Given the description of an element on the screen output the (x, y) to click on. 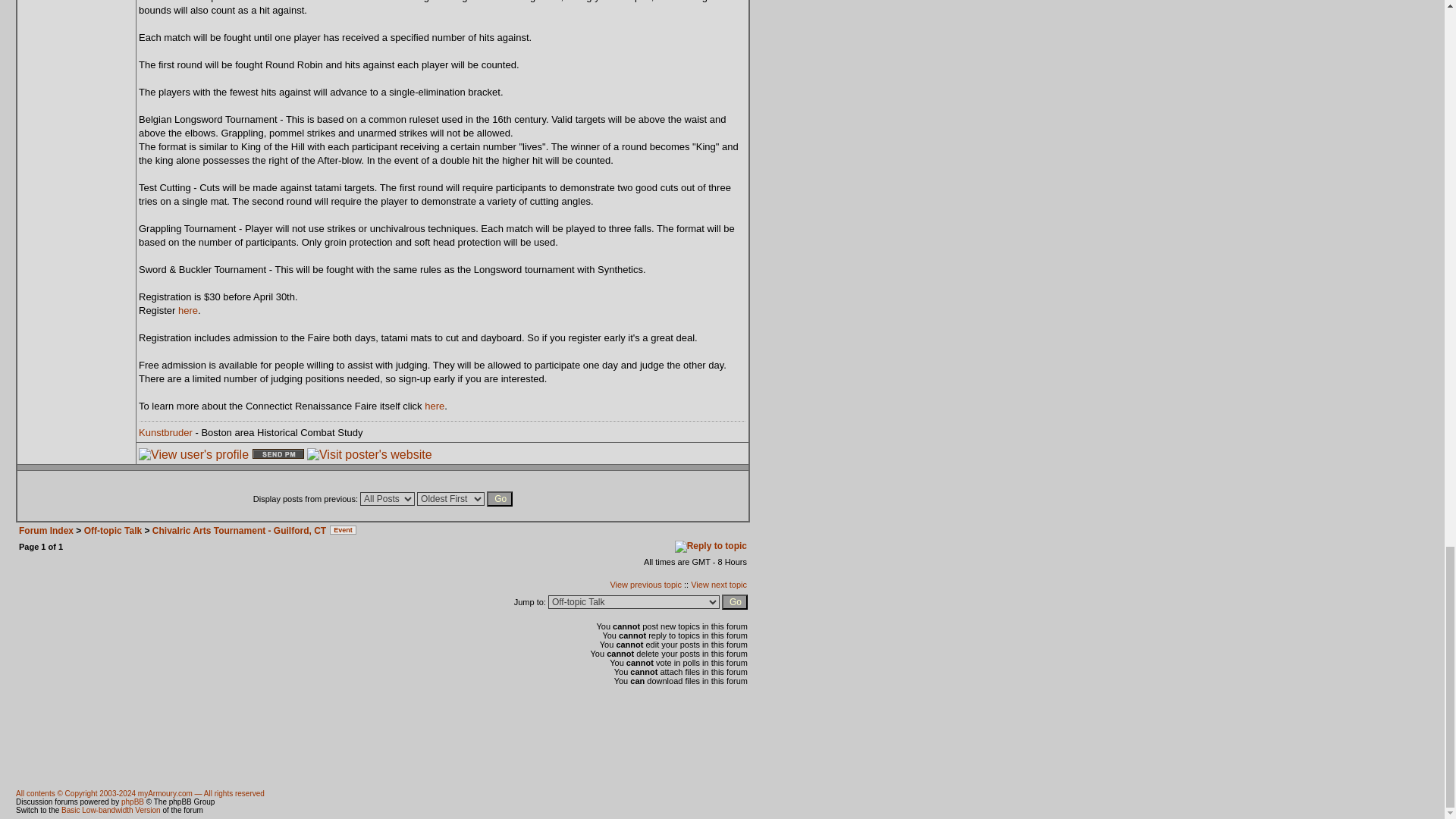
Visit poster's website (369, 454)
here (187, 310)
View user's profile (193, 454)
Go (735, 601)
Go (499, 498)
Send private message (276, 453)
